Given the description of an element on the screen output the (x, y) to click on. 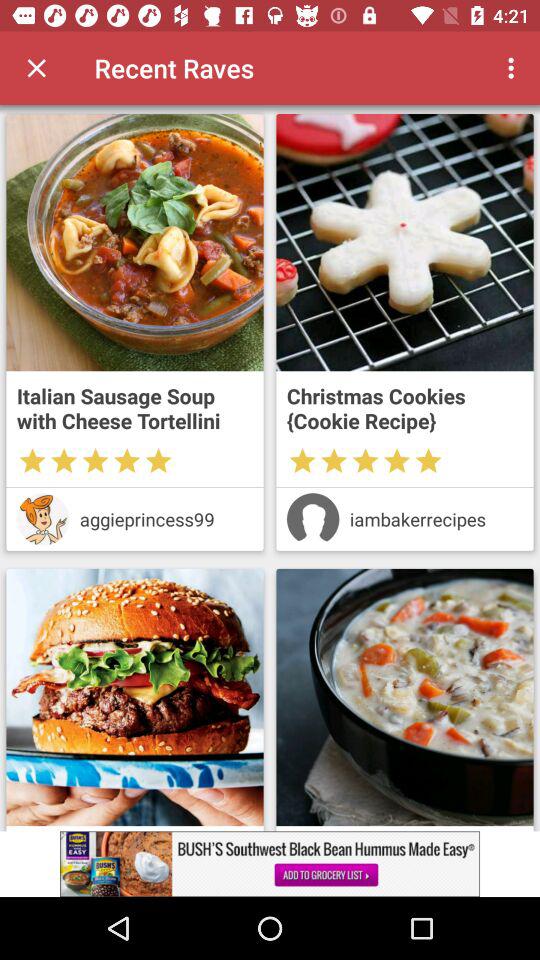
open profile (42, 519)
